Given the description of an element on the screen output the (x, y) to click on. 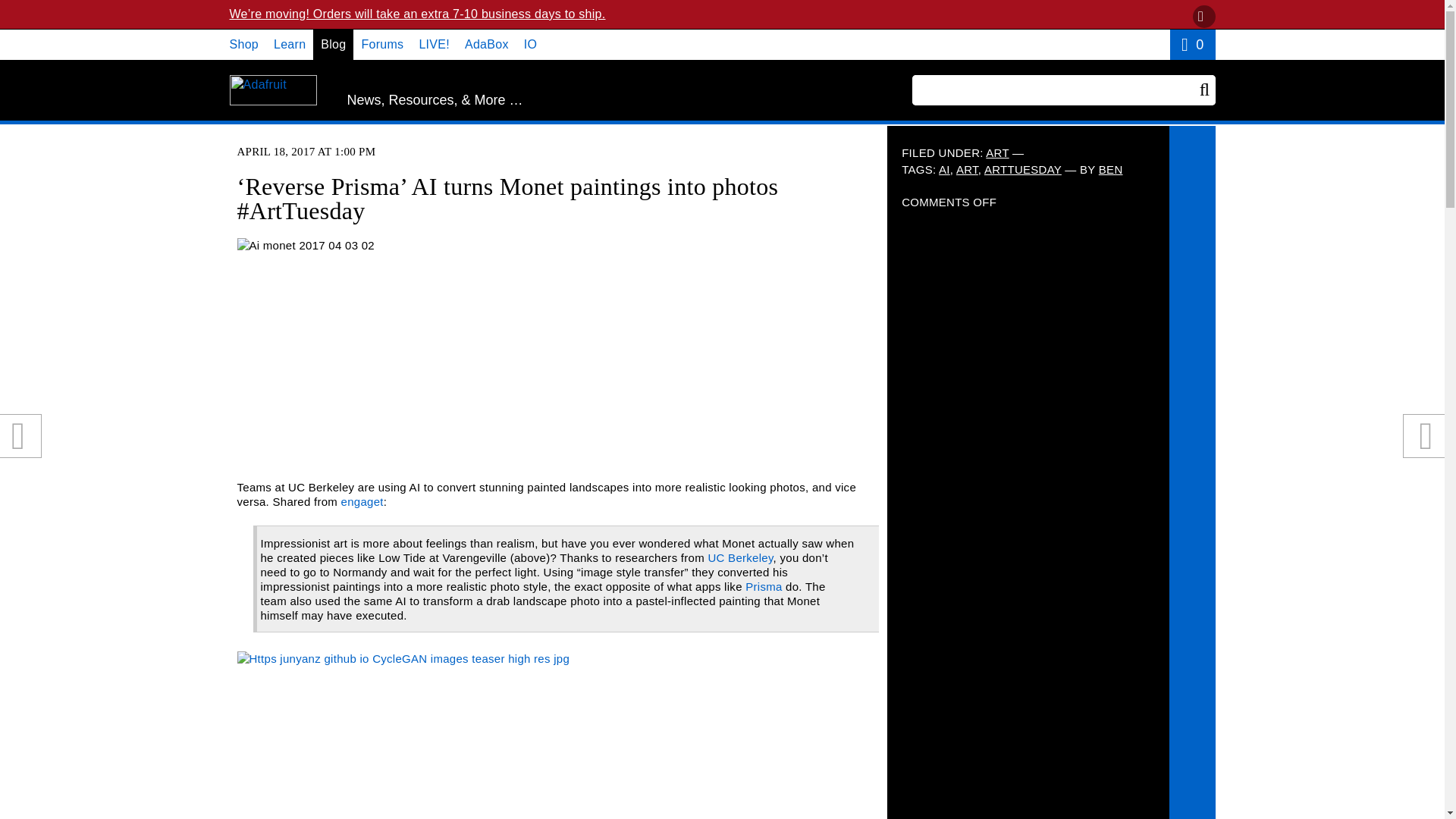
Adafruit (271, 90)
